Given the description of an element on the screen output the (x, y) to click on. 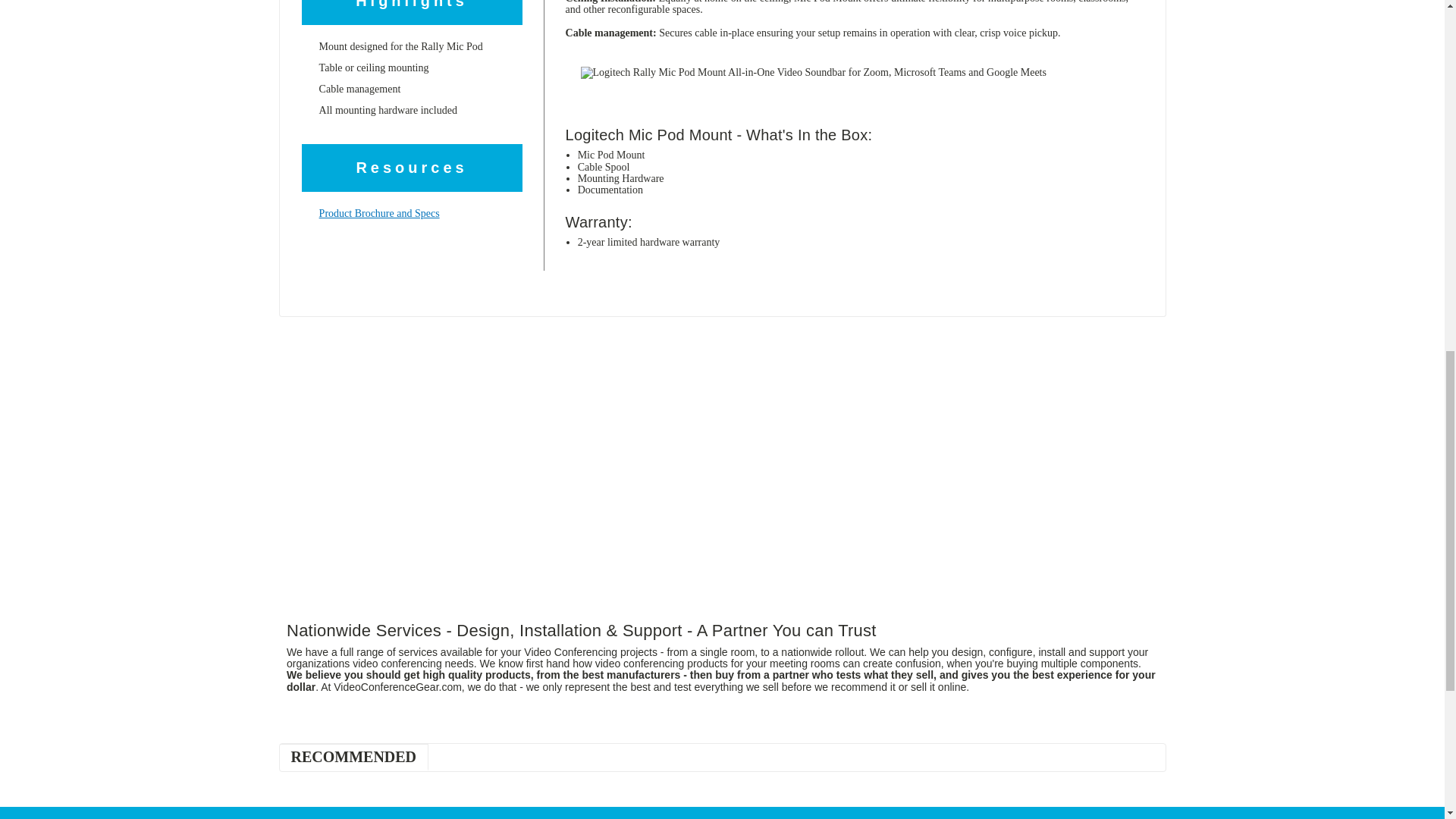
Logitech Rally Mic Pod Mount All-in-One Video Soundbar (849, 72)
